Given the description of an element on the screen output the (x, y) to click on. 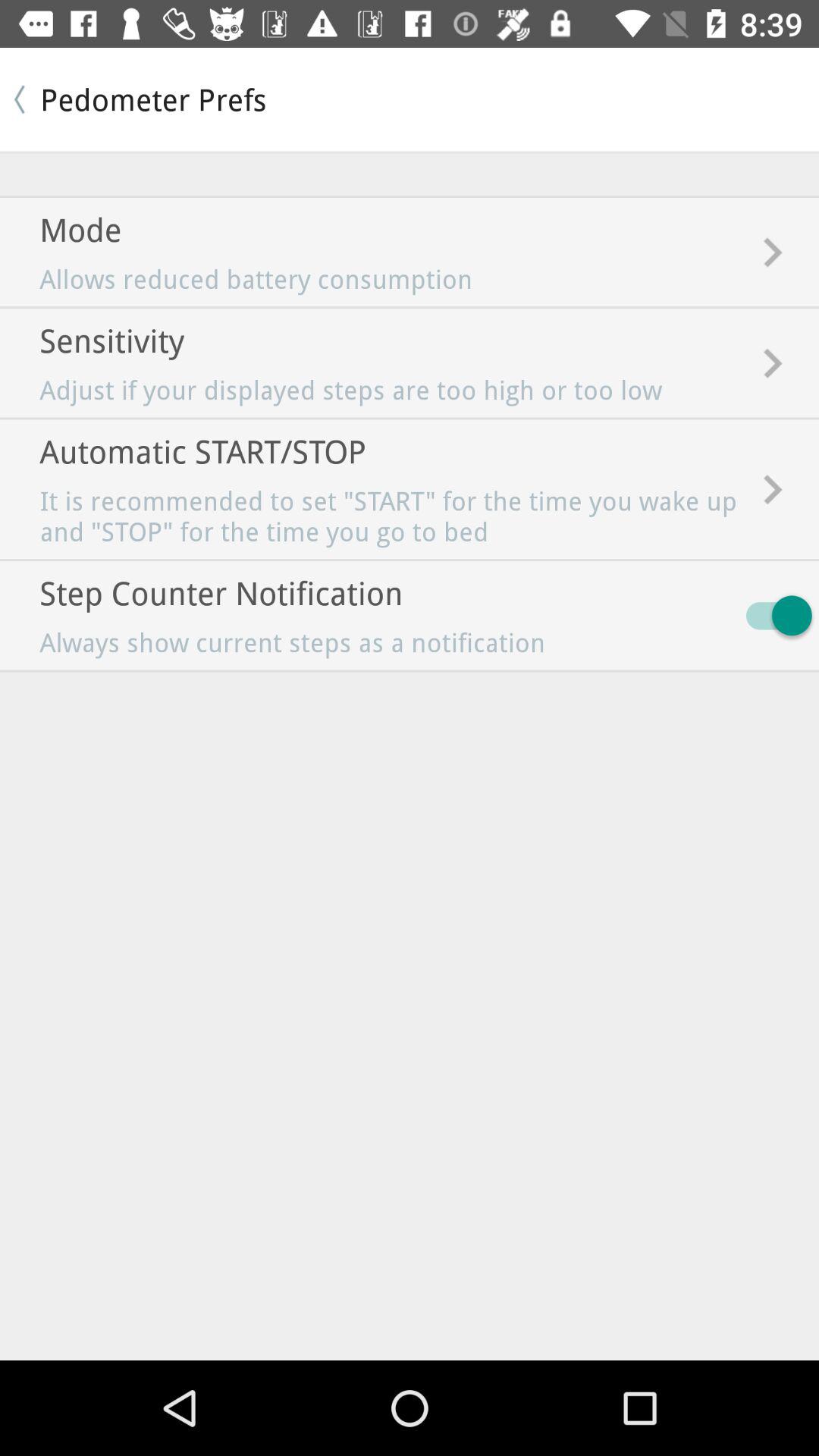
open the item next to always show current icon (771, 615)
